Given the description of an element on the screen output the (x, y) to click on. 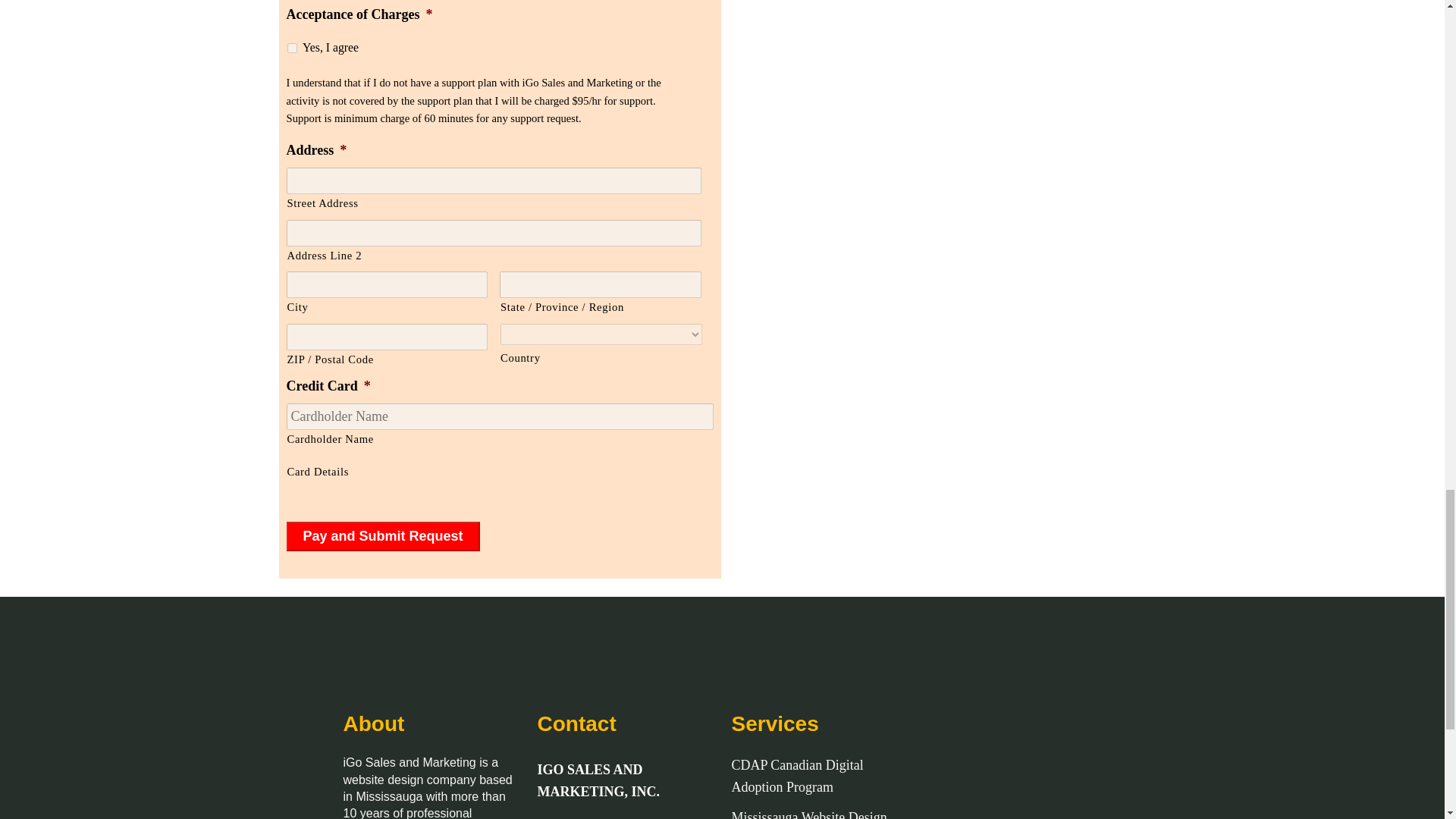
Yes, I agree (291, 48)
Pay and Submit Request (383, 536)
